Given the description of an element on the screen output the (x, y) to click on. 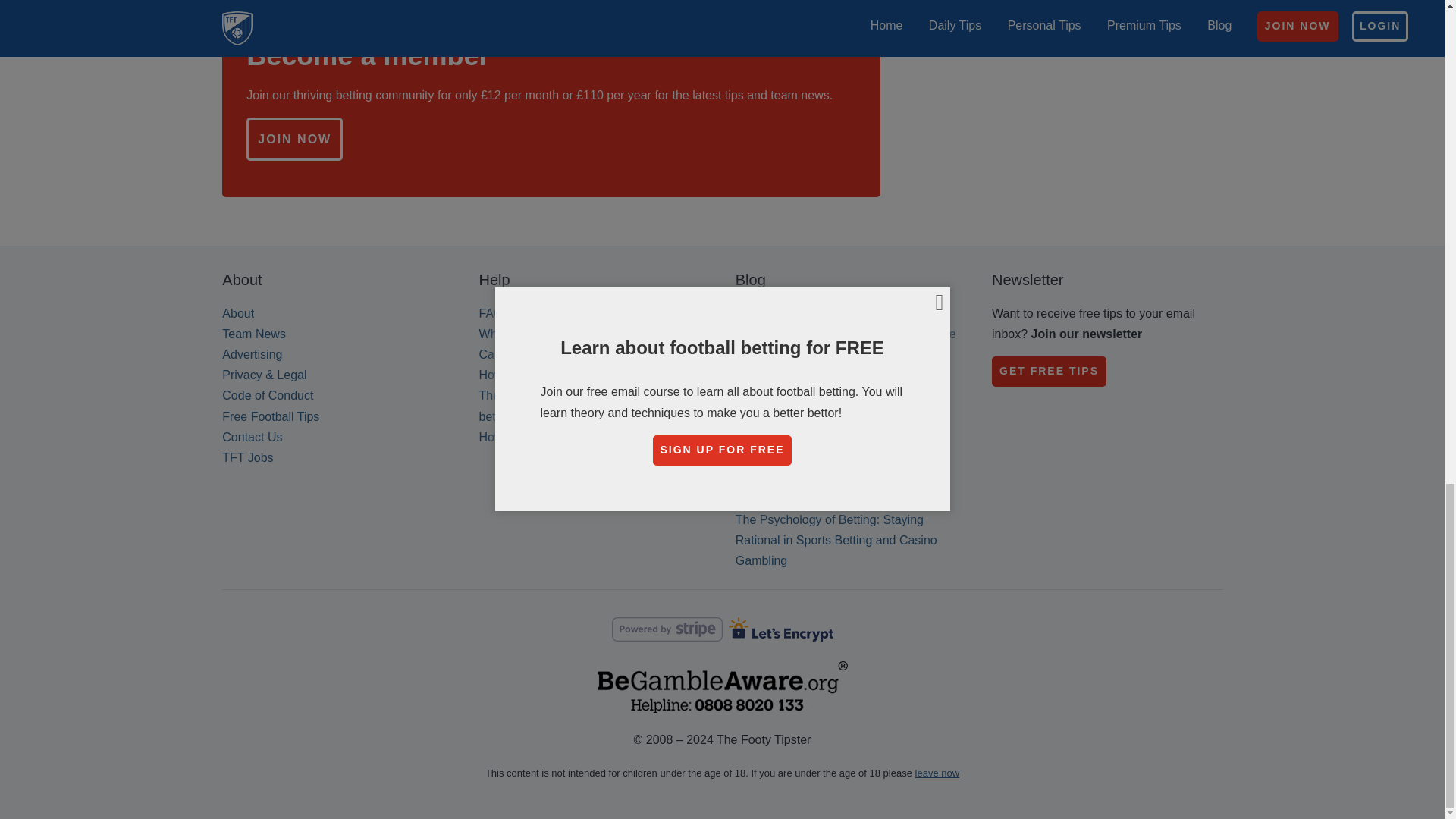
Why should I pay for football tips? (570, 333)
Cancelling your membership (556, 354)
Advertising (252, 354)
Free Football Tips (270, 416)
Team News (253, 333)
About (237, 313)
How many tips will I receive? (556, 374)
How to read our tips (533, 436)
FAQ (491, 313)
We smashed the Euros and Copa America! (826, 385)
TFT Jobs (247, 457)
JOIN NOW (294, 138)
Code of Conduct (267, 395)
Contact Us (252, 436)
